Given the description of an element on the screen output the (x, y) to click on. 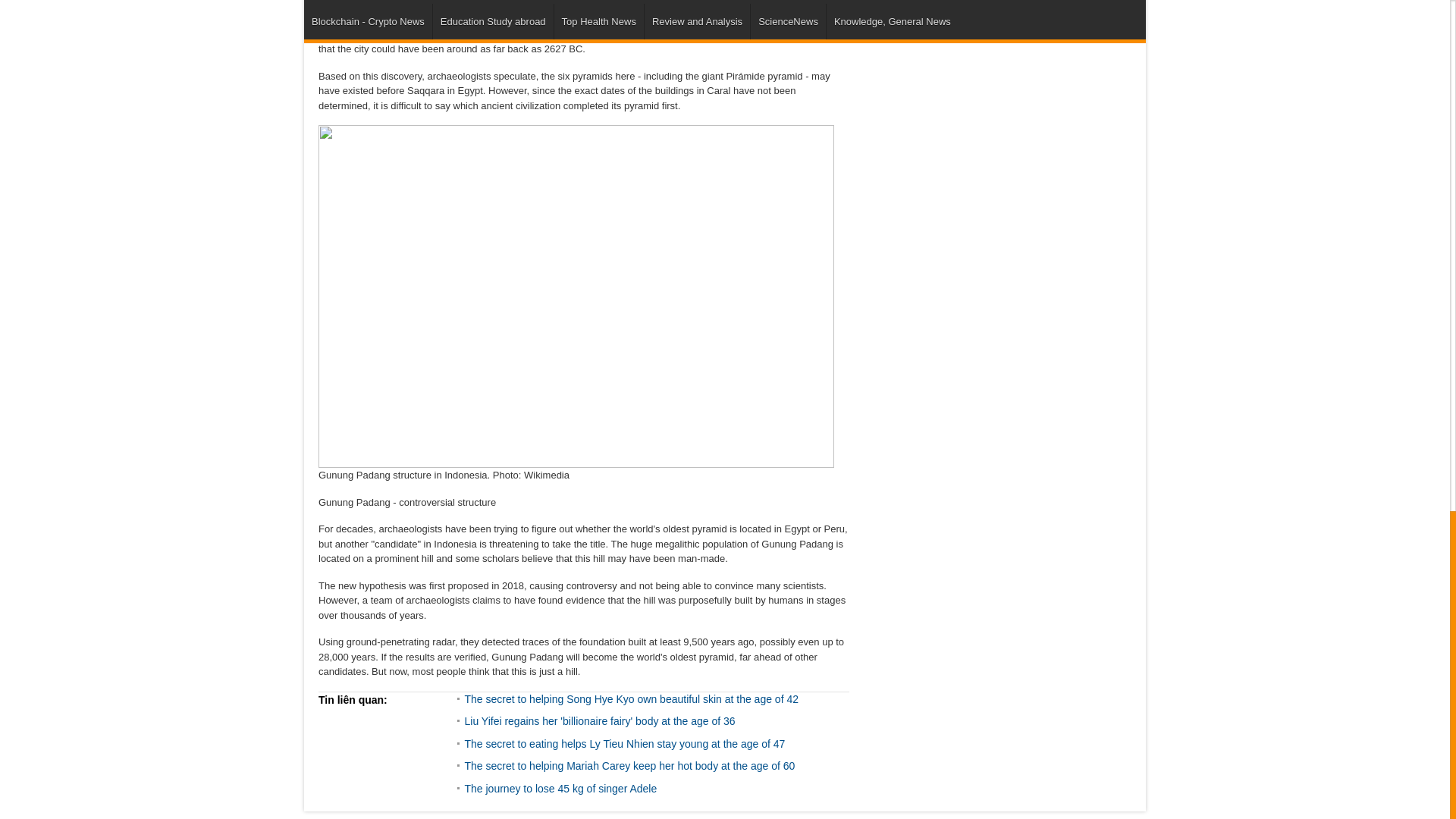
The journey to lose 45 kg of singer Adele (560, 787)
The journey to lose 45 kg of singer Adele (560, 787)
